Given the description of an element on the screen output the (x, y) to click on. 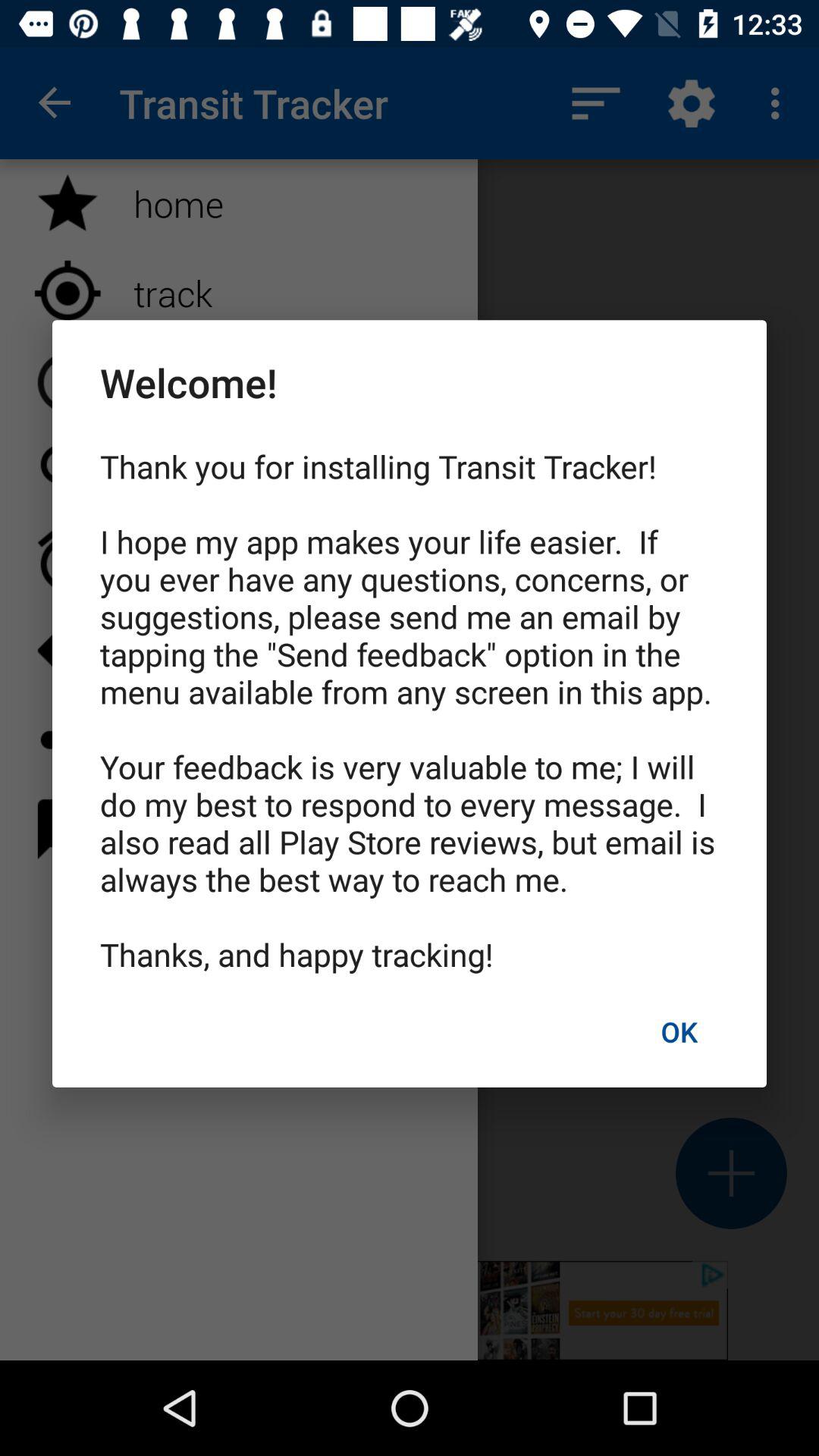
open ok at the bottom right corner (678, 1031)
